Given the description of an element on the screen output the (x, y) to click on. 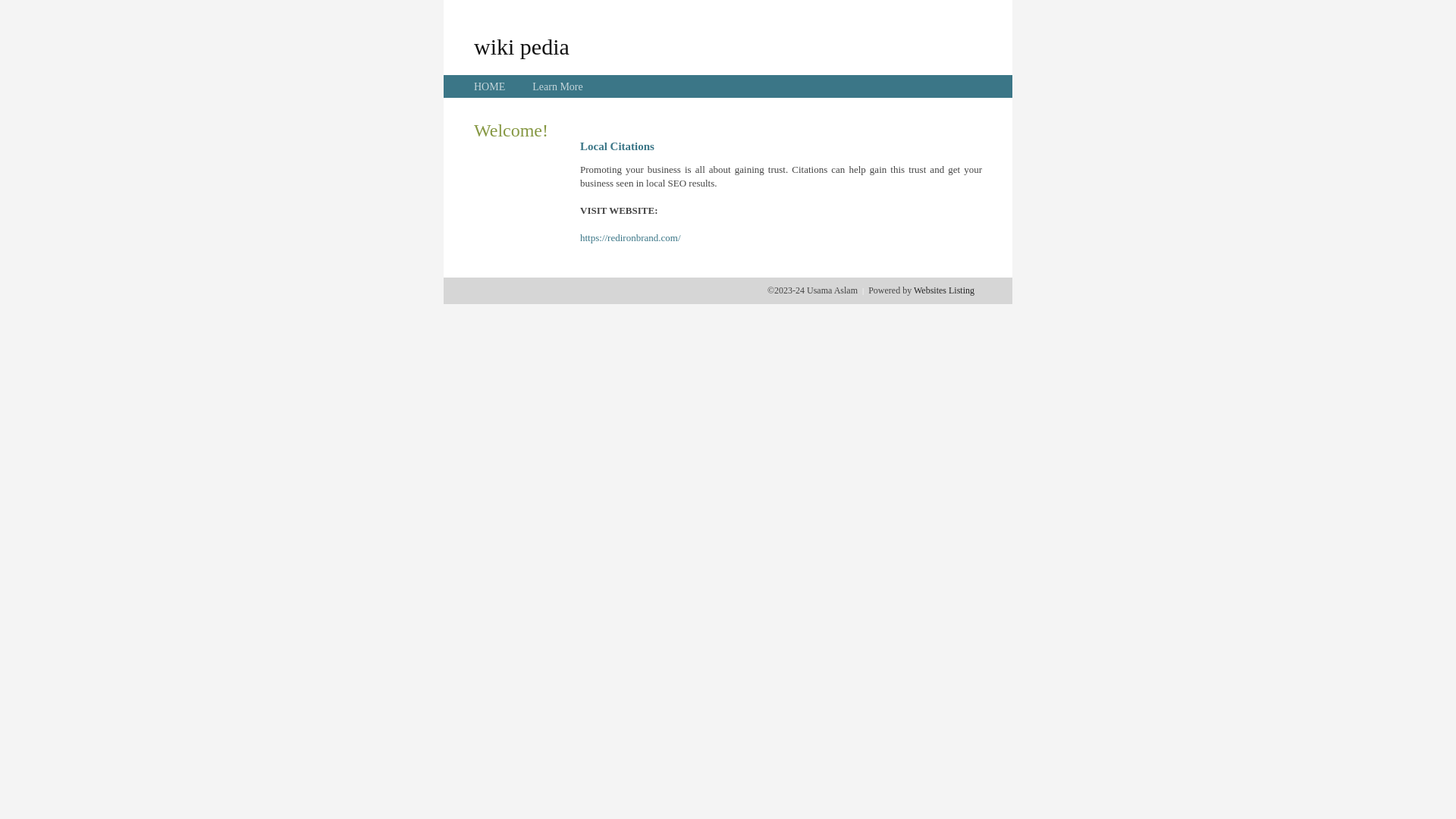
https://redironbrand.com/ Element type: text (630, 237)
HOME Element type: text (489, 86)
Websites Listing Element type: text (943, 290)
wiki pedia Element type: text (521, 46)
Learn More Element type: text (557, 86)
